Given the description of an element on the screen output the (x, y) to click on. 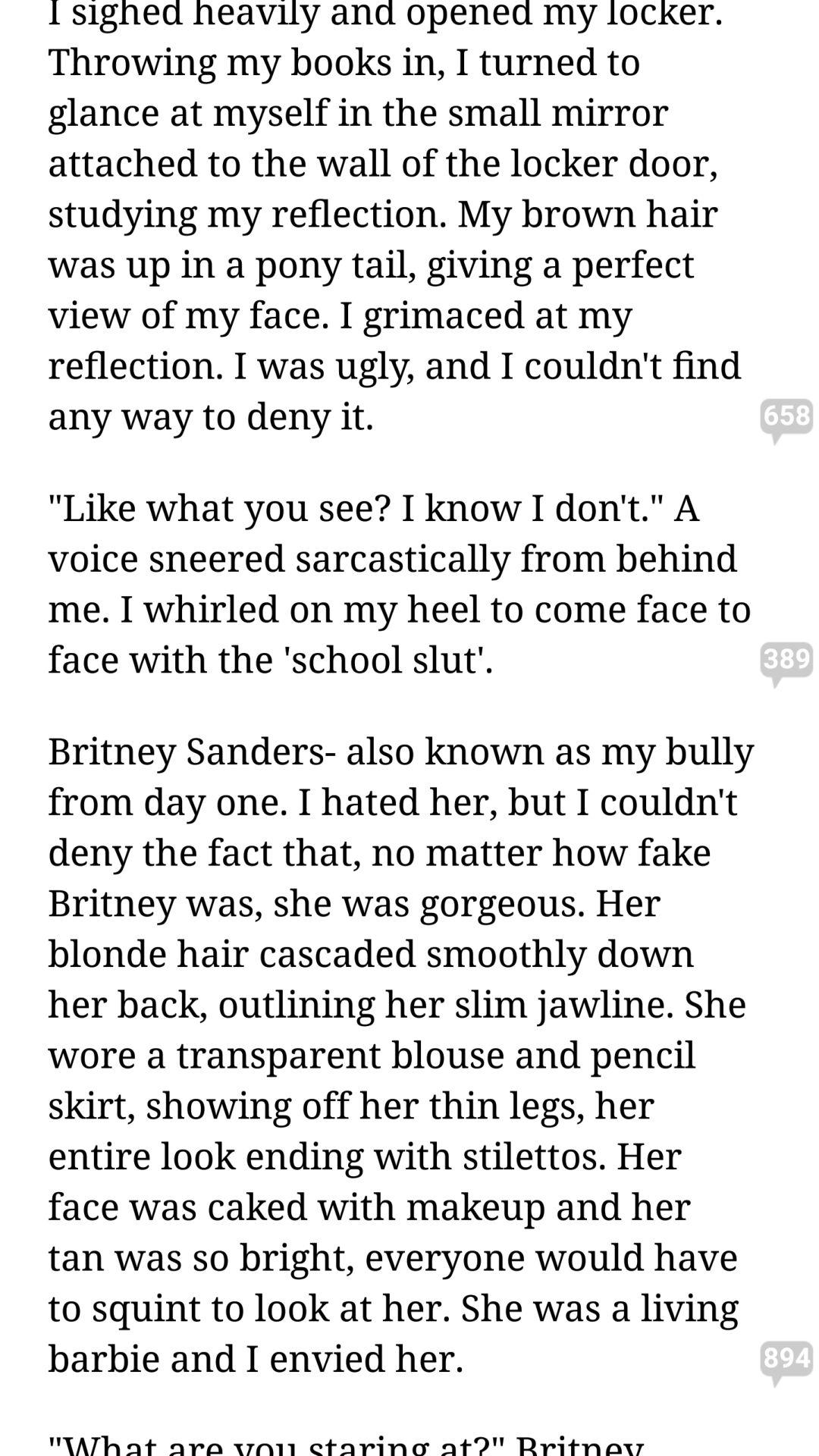
click on comment icon below the first paragraph (784, 422)
